Given the description of an element on the screen output the (x, y) to click on. 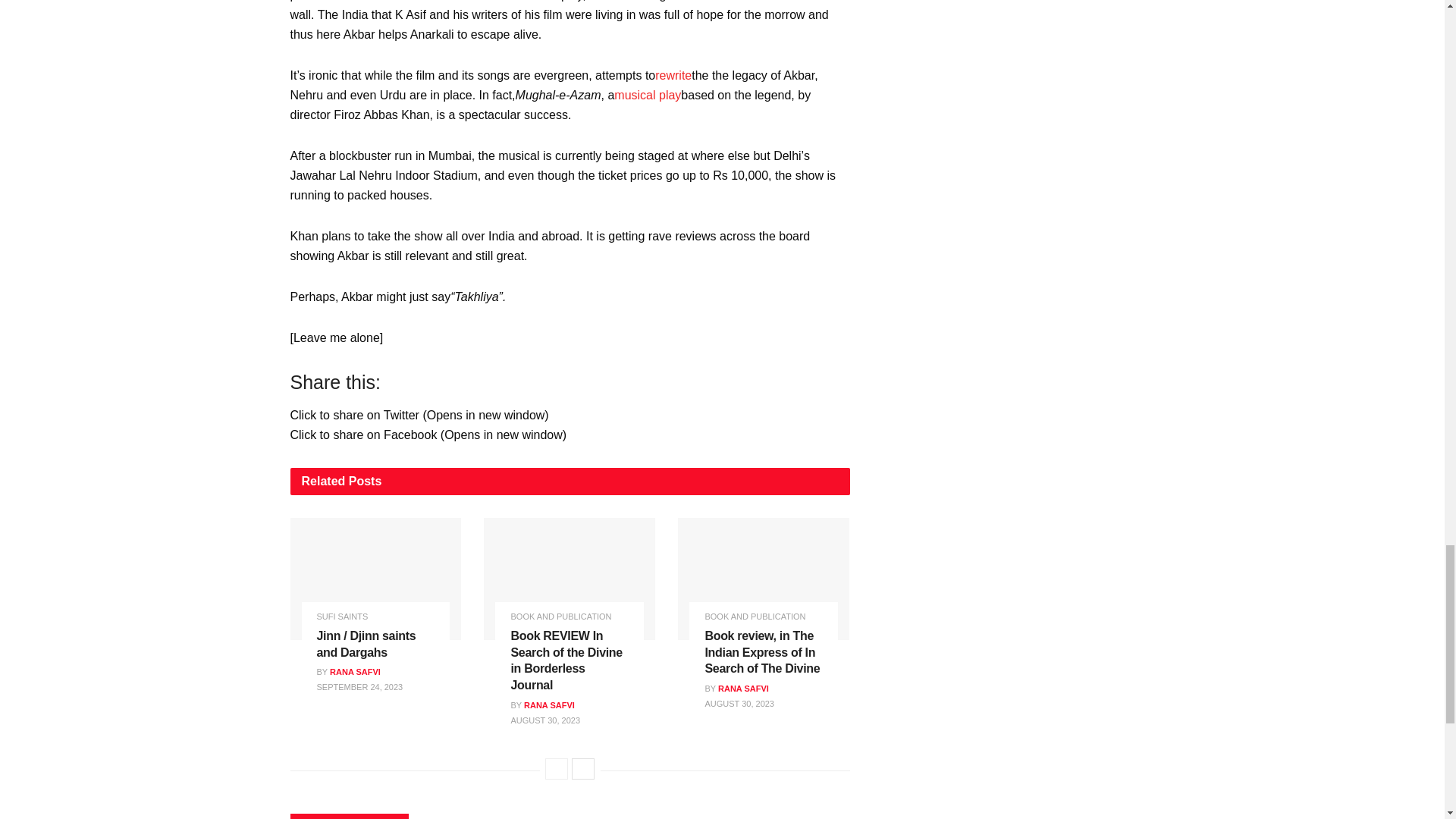
Click to share on Facebook (427, 434)
Previous (555, 768)
rewrite (673, 74)
Click to share on Twitter (418, 414)
musical play (647, 94)
Next (583, 768)
